Given the description of an element on the screen output the (x, y) to click on. 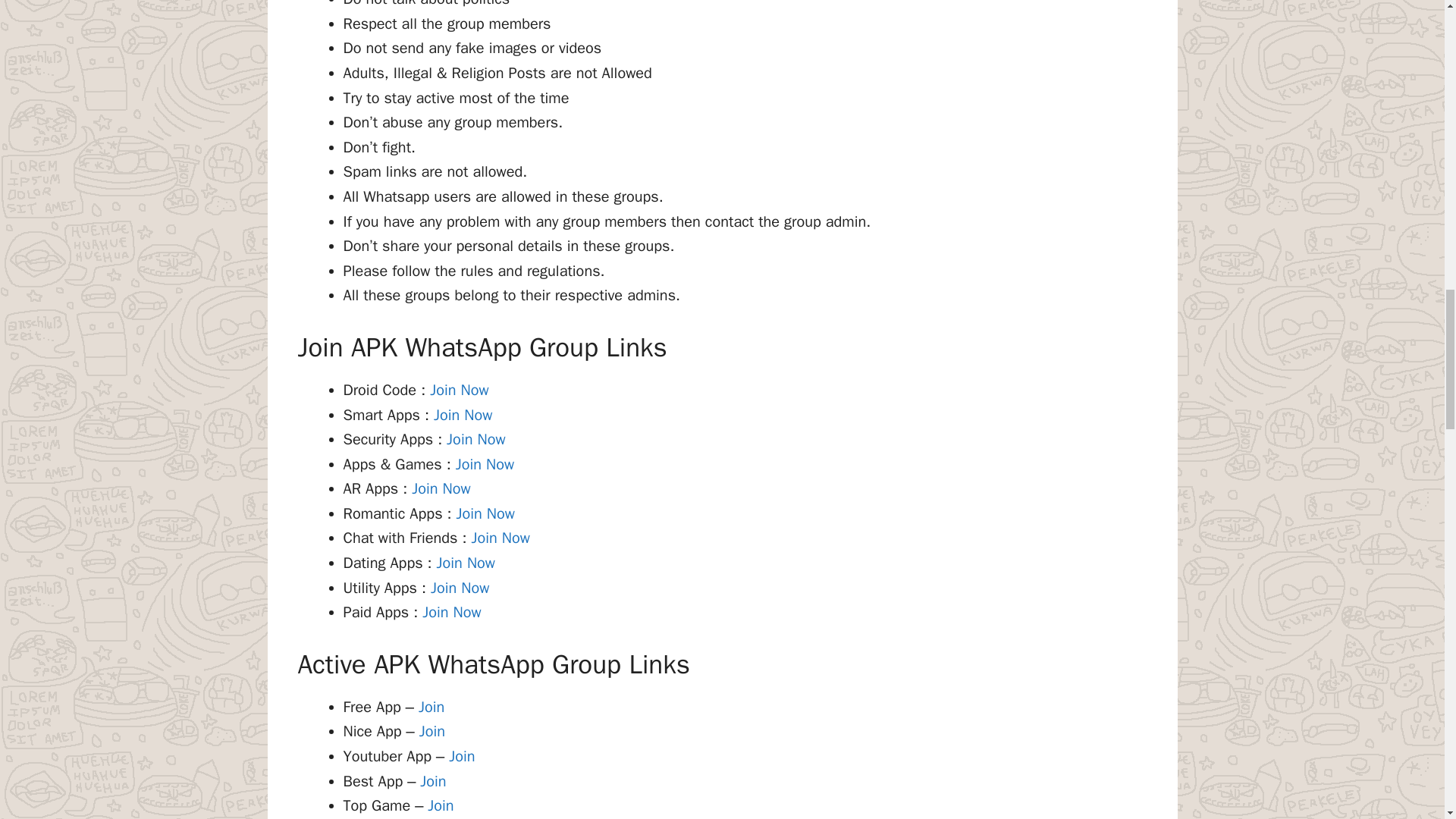
 Join Now (483, 513)
 Join Now (457, 587)
Join (431, 706)
Join (432, 731)
 Join Now (456, 389)
Join (440, 805)
 Join Now (473, 438)
 Join Now (463, 562)
 Join Now (482, 464)
Join (432, 781)
 Join Now (460, 415)
 Join Now (497, 537)
 Join Now (438, 488)
Join (461, 755)
 Join Now (448, 611)
